Given the description of an element on the screen output the (x, y) to click on. 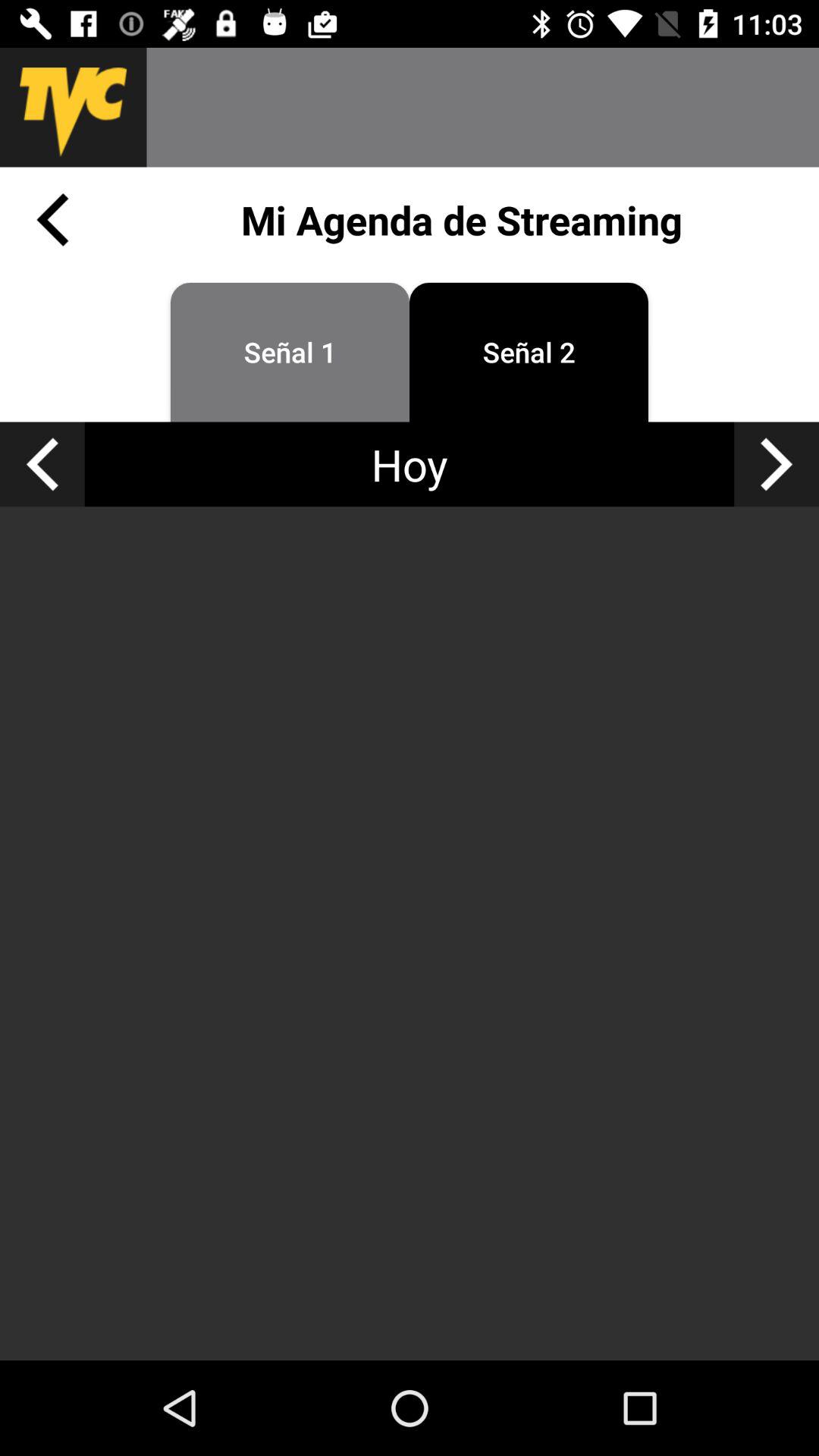
search (482, 107)
